Given the description of an element on the screen output the (x, y) to click on. 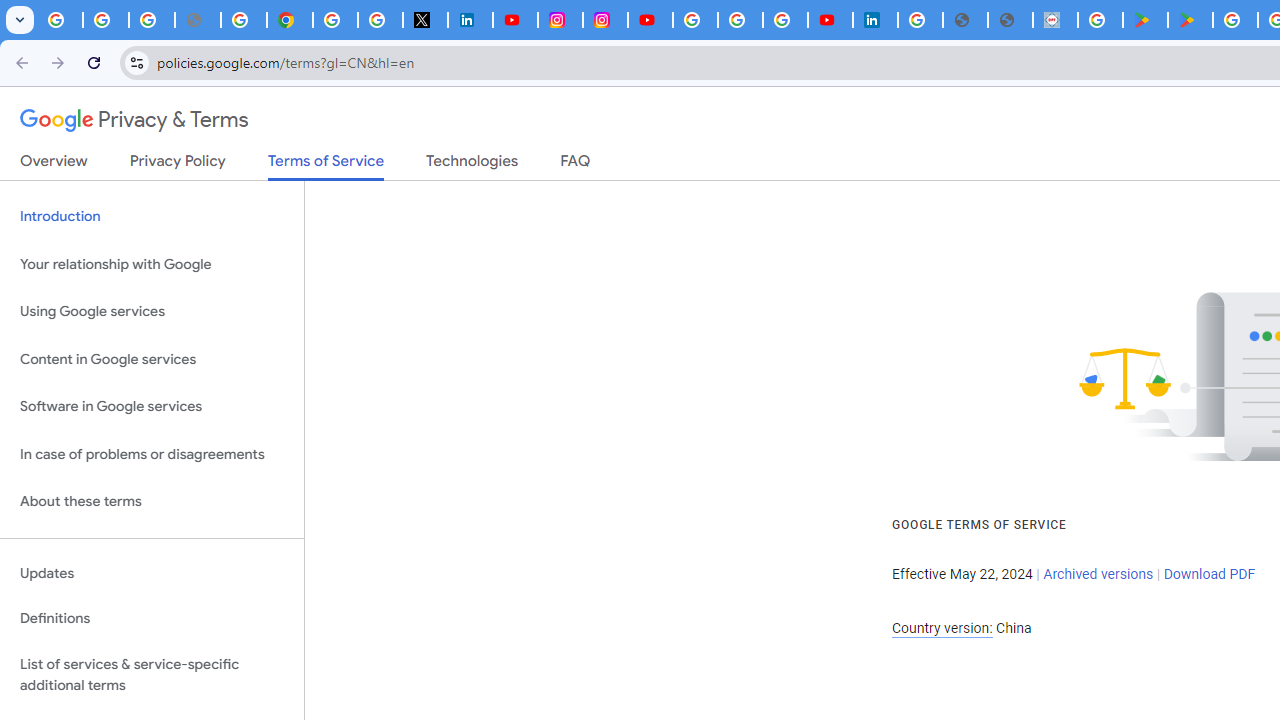
In case of problems or disagreements (152, 453)
YouTube Content Monetization Policies - How YouTube Works (514, 20)
About these terms (152, 502)
Content in Google services (152, 358)
LinkedIn Privacy Policy (470, 20)
support.google.com - Network error (198, 20)
